Given the description of an element on the screen output the (x, y) to click on. 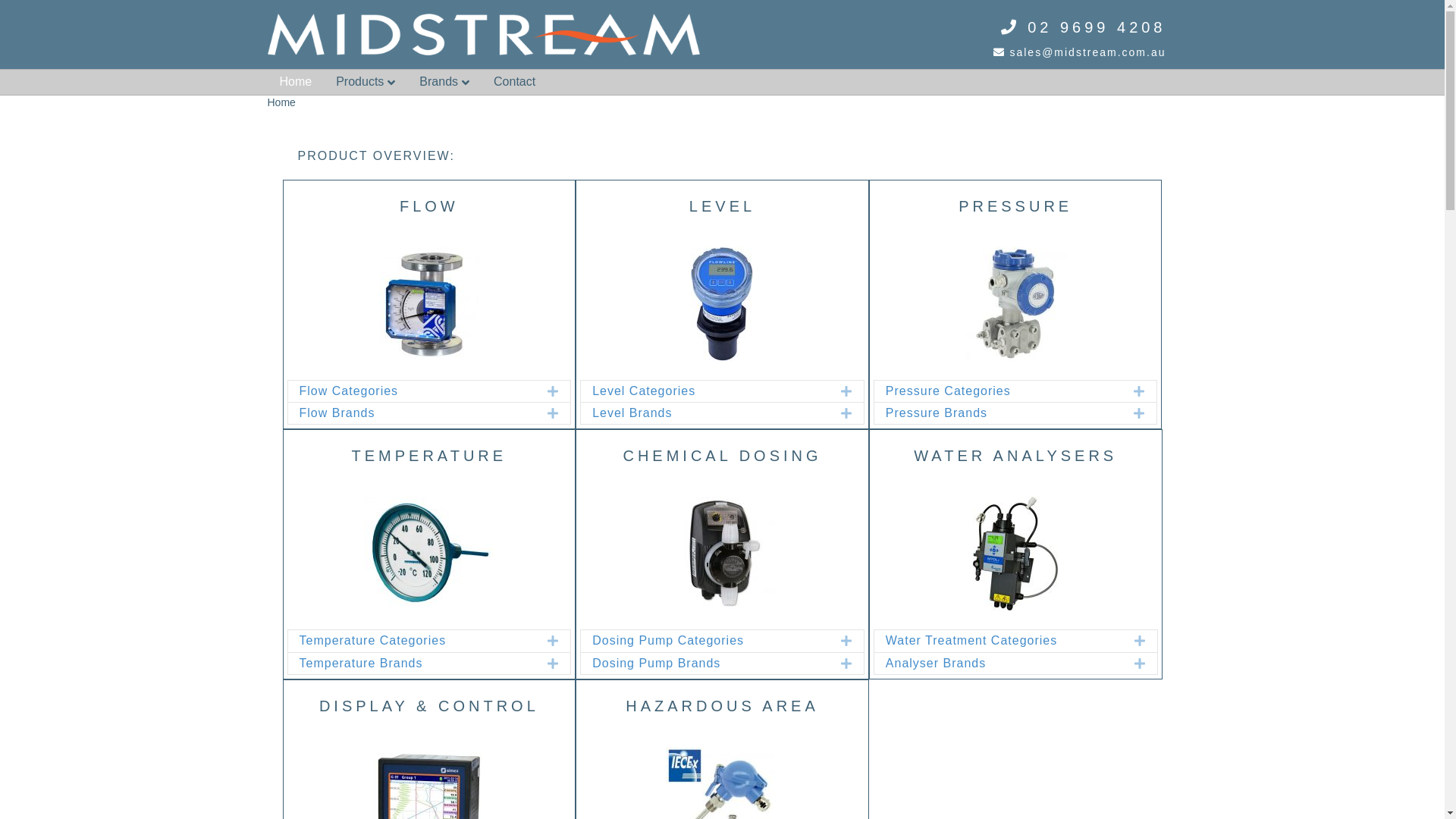
Dosing Pump Brands Element type: text (705, 663)
AQUA HC897 Solenoid Chemical Dosing Pump Element type: hover (722, 553)
Dosing Pump Categories Element type: text (705, 640)
Expand Element type: text (541, 663)
Pressure Brands Element type: text (998, 412)
Expand Element type: text (835, 663)
FL_UG06 Element type: hover (721, 303)
PRESSURE Element type: text (1015, 205)
 sales@midstream.com.au Element type: text (1079, 52)
Water Treatment Categories Element type: text (998, 640)
Level Brands Element type: text (705, 412)
Expand Element type: text (1128, 640)
CHEMICAL DOSING Element type: text (721, 455)
DISPLAY & CONTROL Element type: text (429, 705)
Pressure Categories Element type: text (998, 390)
Expand Element type: text (541, 412)
Expand Element type: text (541, 640)
Level Categories Element type: text (705, 390)
Expand Element type: text (835, 640)
Expand Element type: text (835, 412)
Expand Element type: text (1127, 390)
Stainless Tube Variable Area Flow Meter Element type: hover (428, 303)
HAZARDOUS AREA Element type: text (721, 705)
Flow Categories Element type: text (411, 390)
Expand Element type: text (835, 390)
WATER ANALYSERS Element type: text (1015, 455)
FLOW Element type: text (428, 205)
Expand Element type: text (1127, 412)
Temperature Brands Element type: text (411, 663)
LEVEL Element type: text (722, 205)
Romberg TPS Bi-Metal Thermometers Element type: hover (429, 553)
Brands Element type: text (444, 81)
Temperature Categories Element type: text (411, 640)
Home Element type: text (294, 81)
Analyser Brands Element type: text (998, 663)
Georgin ProcessX FKG5 Smart Pressure Transmitter Element type: hover (1015, 303)
Products Element type: text (365, 81)
TEMPERATURE Element type: text (429, 455)
HF_MTOL_PLUS Element type: hover (1014, 553)
Expand Element type: text (1128, 663)
Contact Element type: text (514, 81)
Flow Brands Element type: text (411, 412)
Expand Element type: text (541, 390)
